Given the description of an element on the screen output the (x, y) to click on. 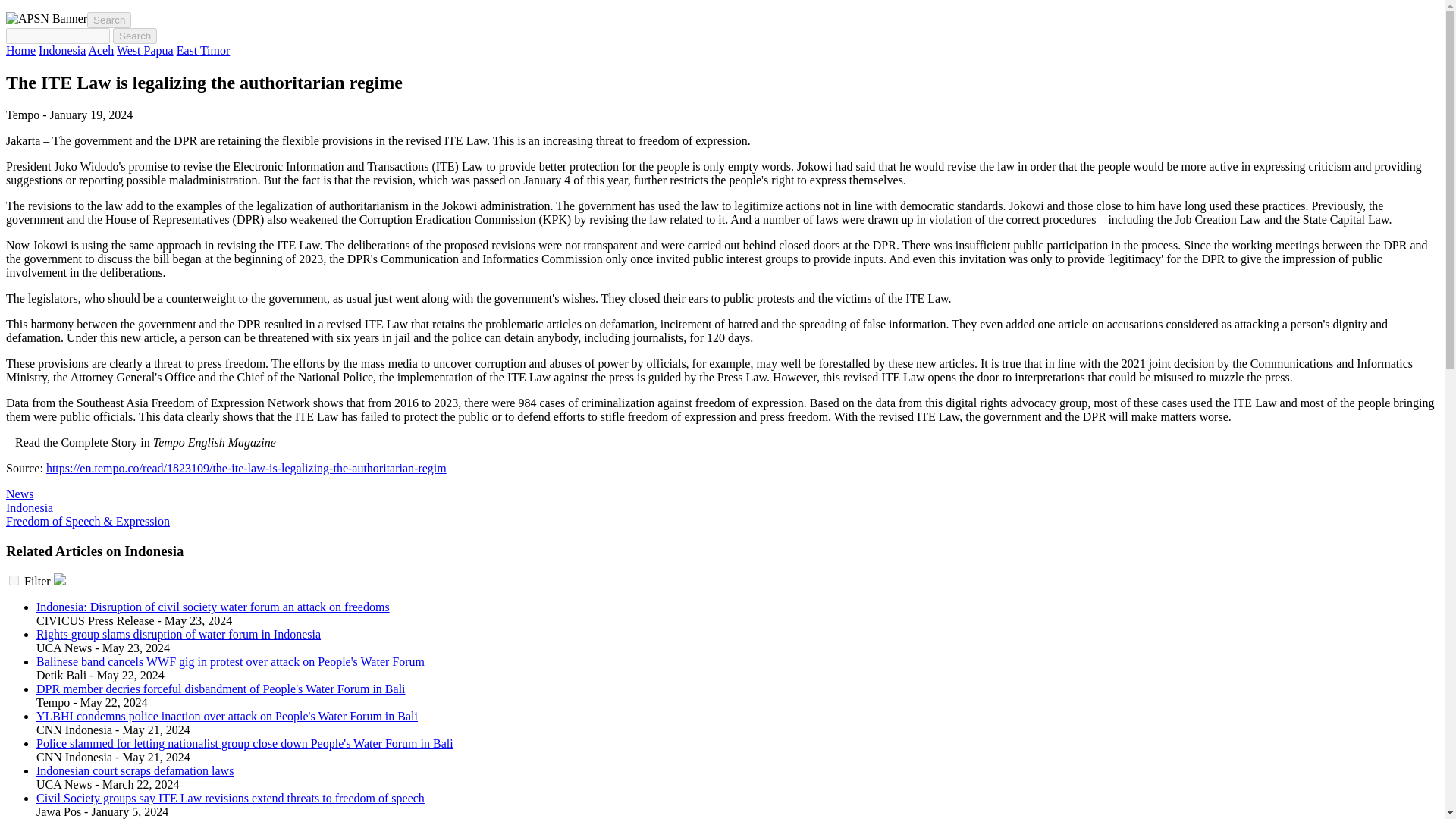
Search (135, 35)
West Papua (144, 50)
Indonesia (28, 507)
Search (135, 35)
Indonesia (62, 50)
Home (19, 50)
News (19, 493)
